Given the description of an element on the screen output the (x, y) to click on. 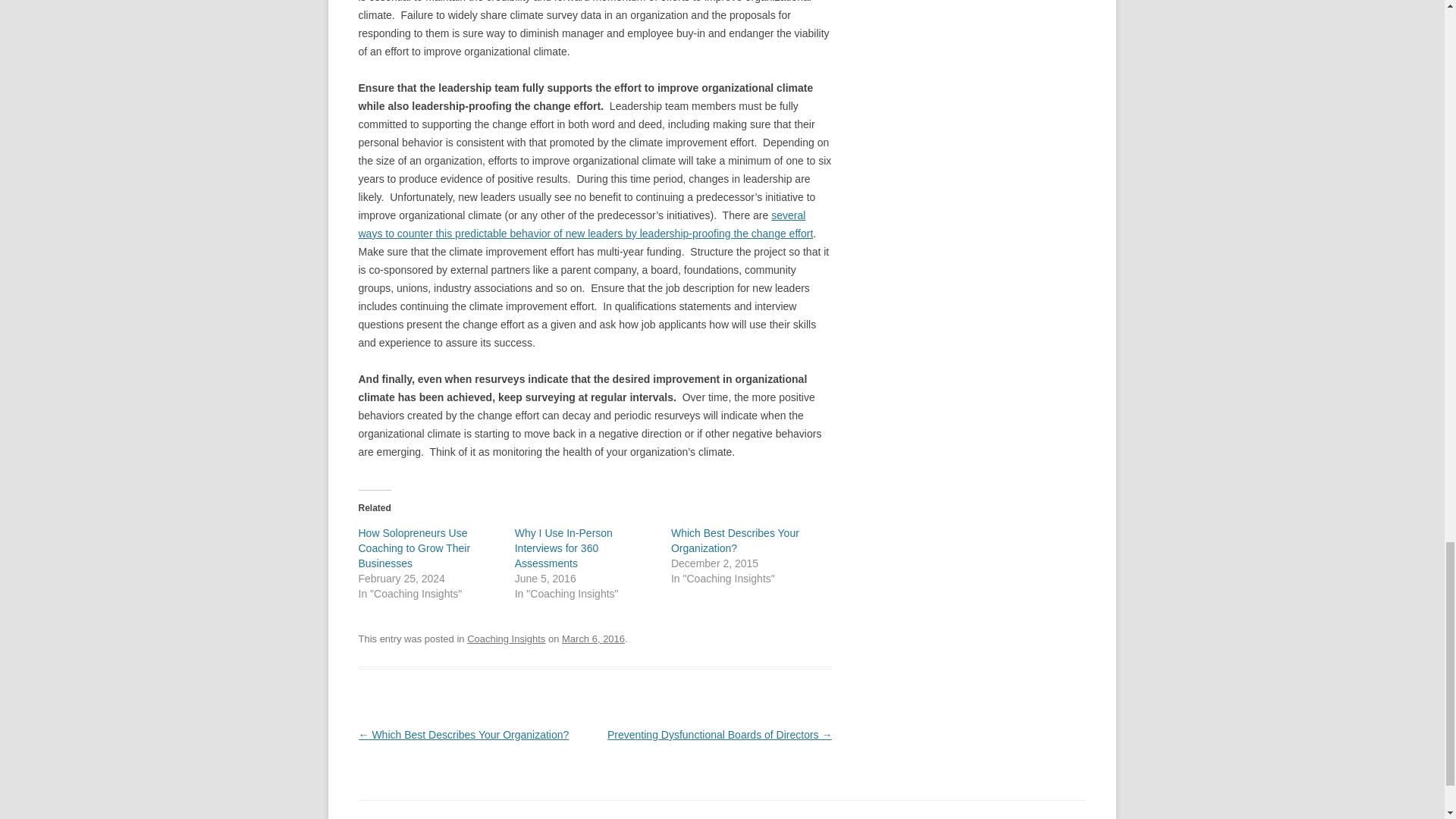
Why I Use In-Person Interviews for 360 Assessments (563, 548)
Why I Use In-Person Interviews for 360 Assessments (563, 548)
March 6, 2016 (593, 638)
How Solopreneurs Use Coaching to Grow Their Businesses (414, 548)
Which Best Describes Your Organization? (735, 540)
How Solopreneurs Use Coaching to Grow Their Businesses (414, 548)
Which Best Describes Your Organization? (735, 540)
Coaching Insights (505, 638)
6:17 pm (593, 638)
